Given the description of an element on the screen output the (x, y) to click on. 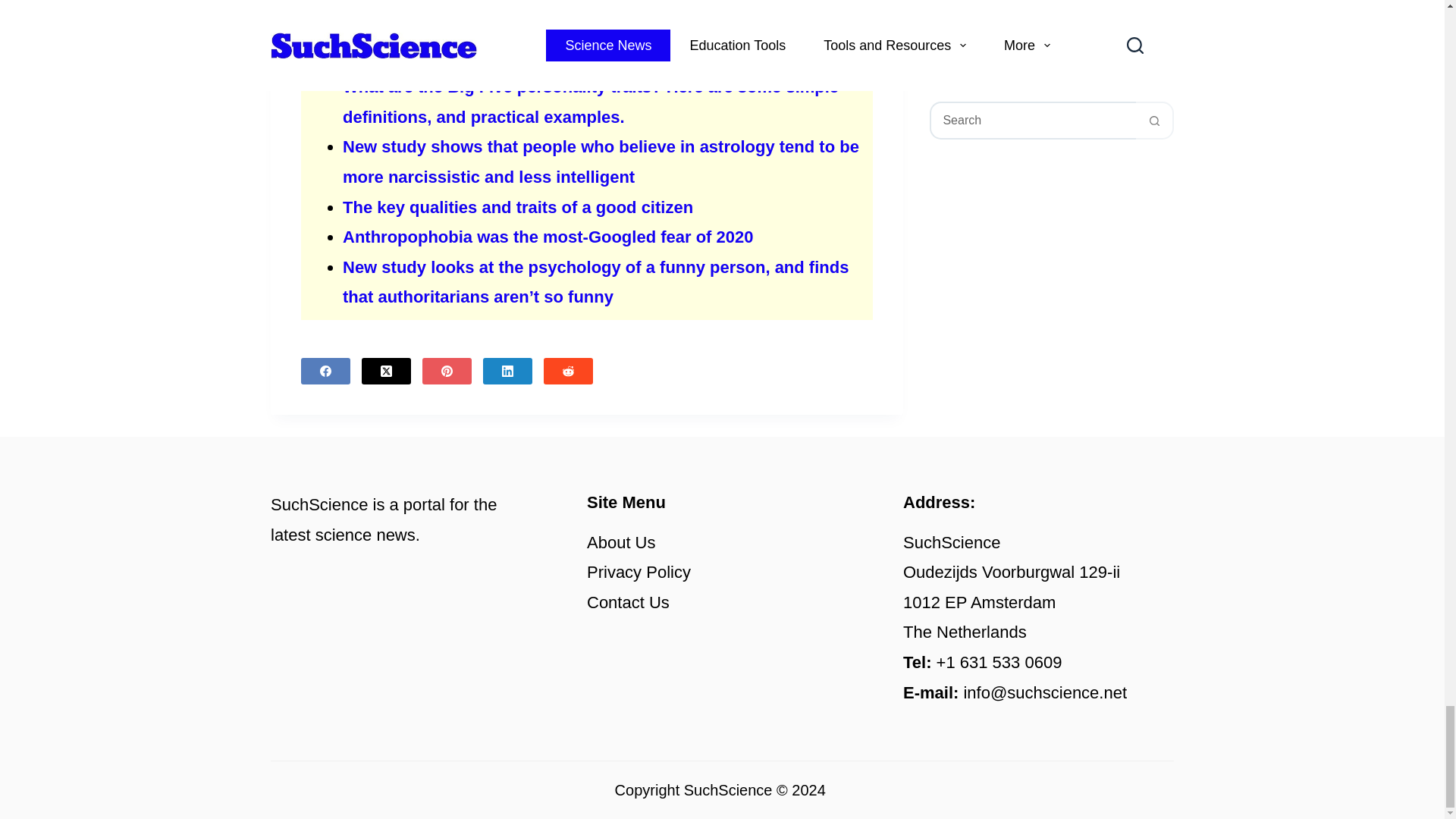
Anthropophobia was the most-Googled fear of 2020 (548, 236)
The key qualities and traits of a good citizen (517, 207)
